Given the description of an element on the screen output the (x, y) to click on. 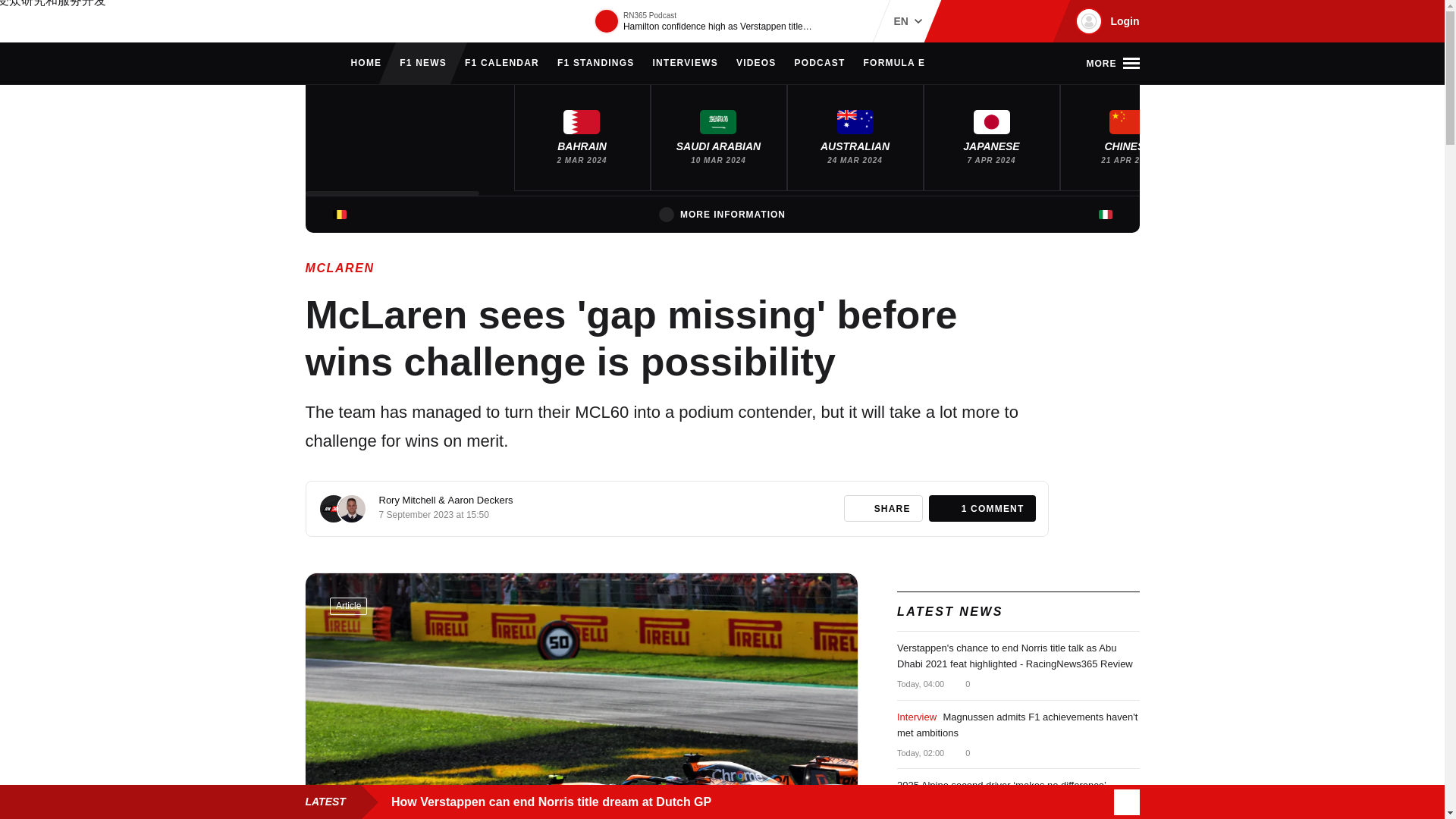
RacingNews365 on X (1010, 21)
RacingNews365 on Facebook (986, 21)
RacingNews365 (350, 21)
Thursday 7 September 2023 at 15:50 (433, 514)
F1 NEWS (422, 63)
F1 STANDINGS (595, 63)
Login (1104, 21)
VIDEOS (756, 63)
FORMULA E (894, 63)
PODCAST (818, 63)
